Given the description of an element on the screen output the (x, y) to click on. 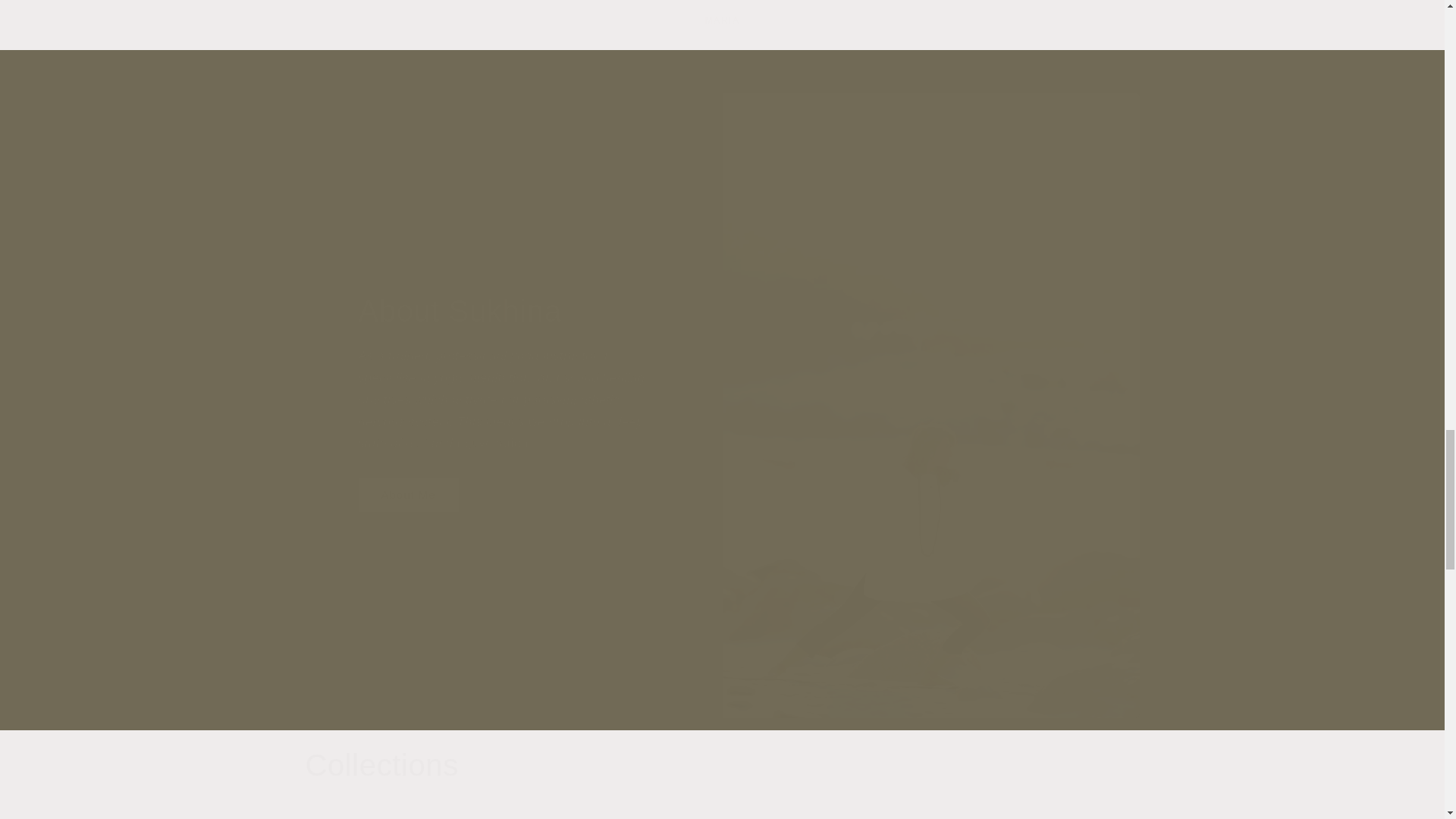
Collections (721, 813)
MARIA (381, 764)
